Given the description of an element on the screen output the (x, y) to click on. 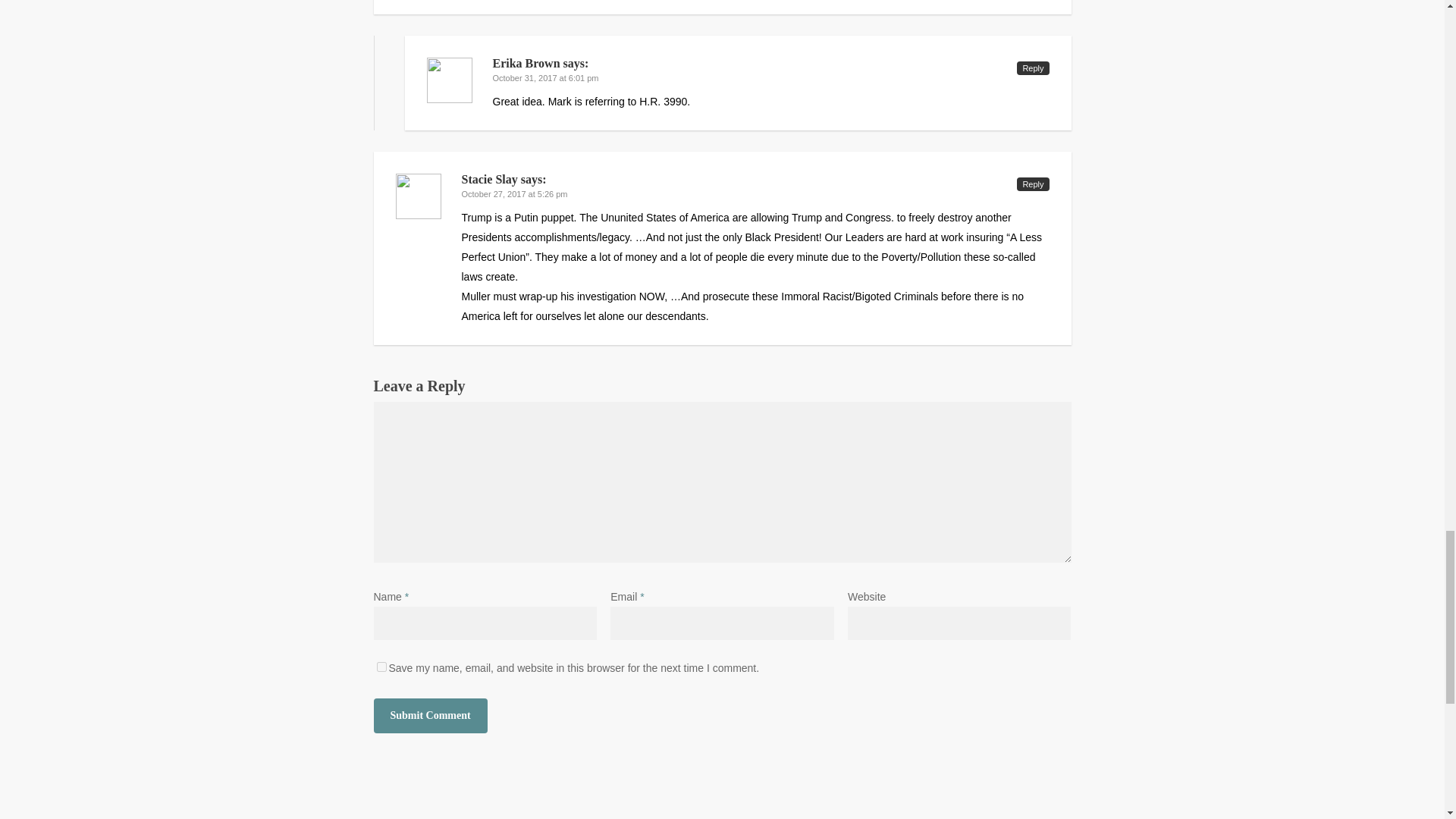
yes (380, 666)
Submit Comment (429, 715)
